Given the description of an element on the screen output the (x, y) to click on. 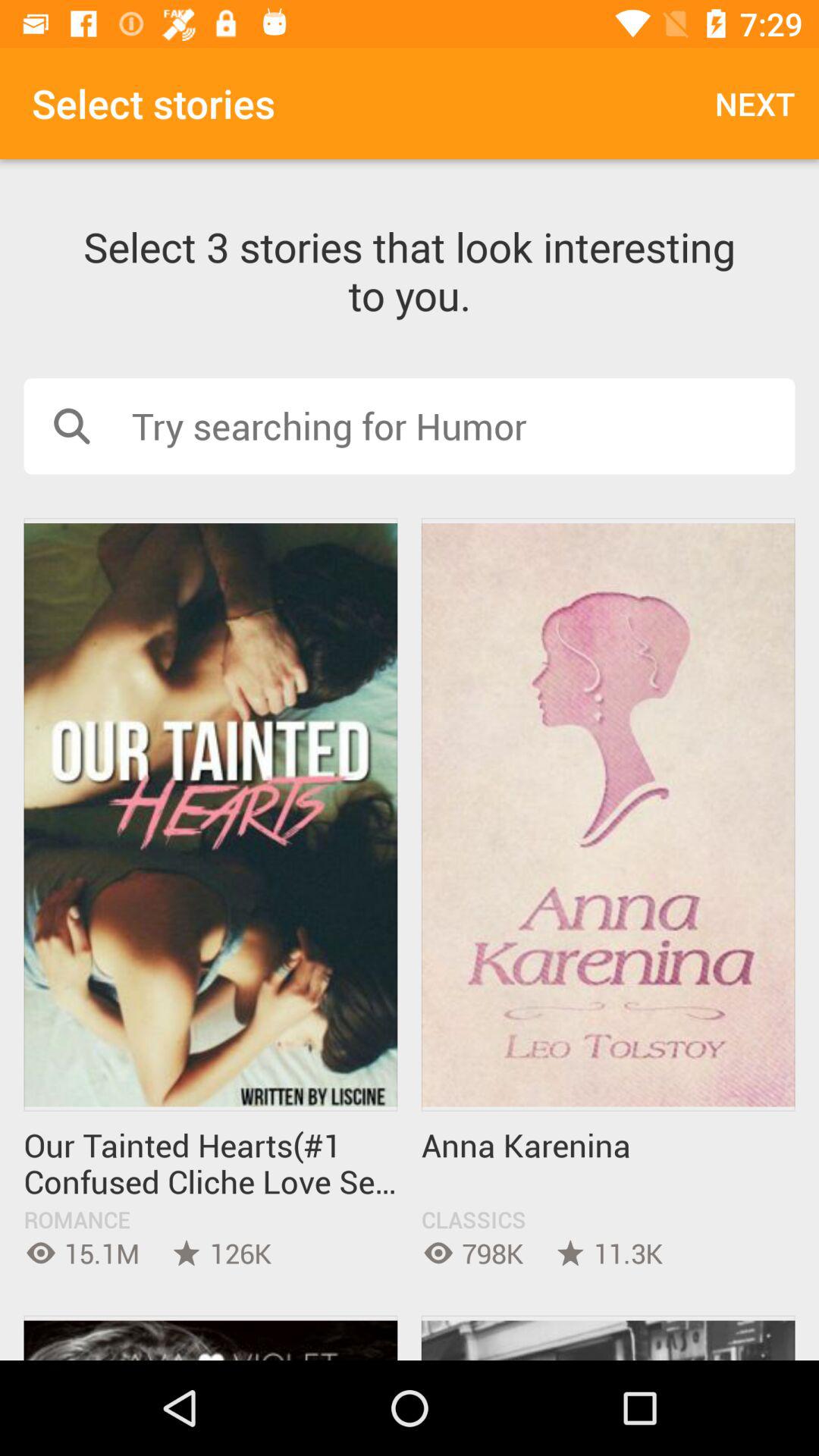
choose the icon to the right of the select stories item (755, 103)
